Given the description of an element on the screen output the (x, y) to click on. 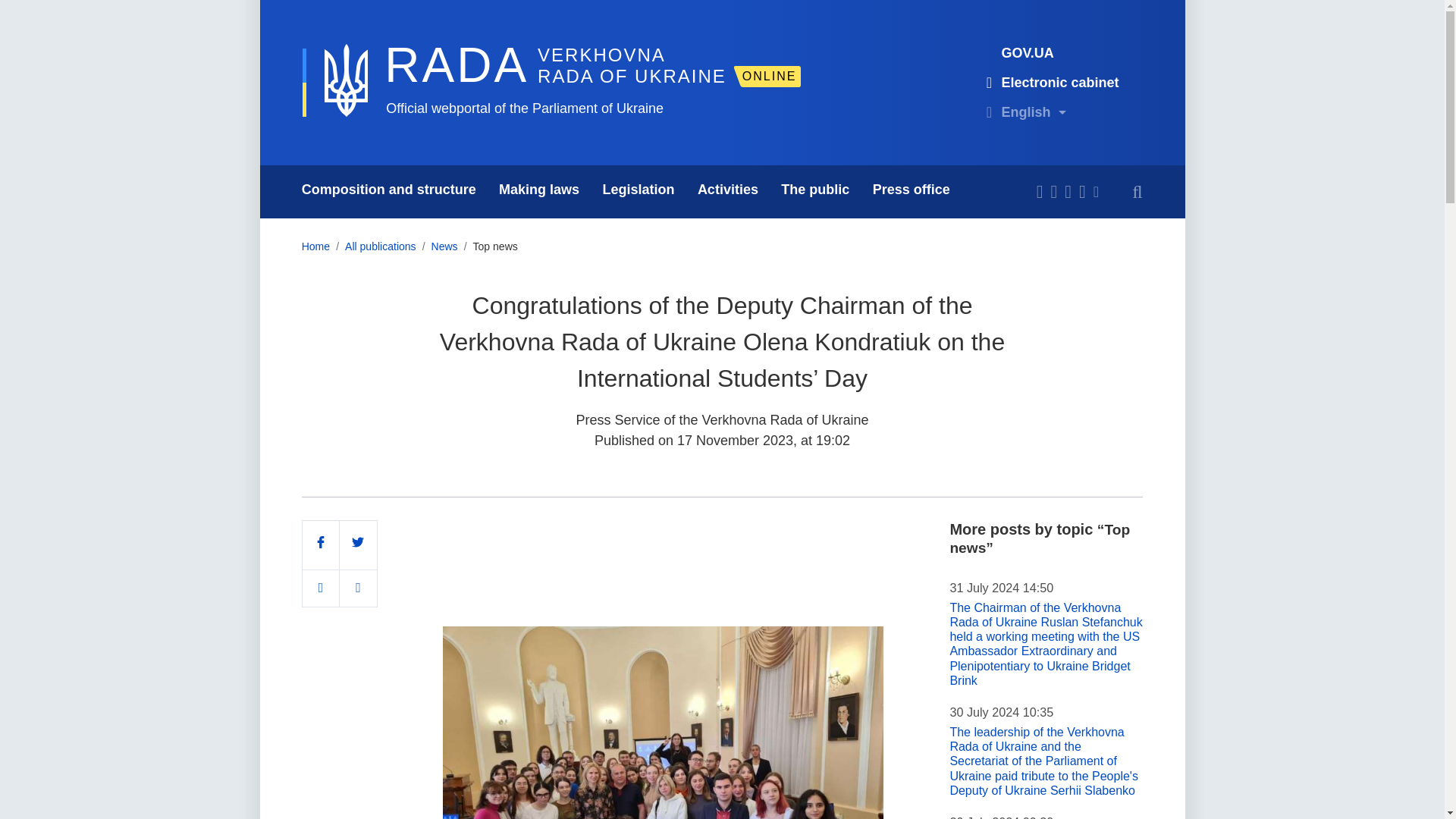
Legislation (638, 191)
Electronic cabinet (1050, 82)
Electronic cabinet (988, 82)
RADA (456, 65)
Making laws (539, 191)
Interface language (988, 111)
English (1023, 111)
ONLINE (769, 76)
Composition and structure (387, 191)
